Given the description of an element on the screen output the (x, y) to click on. 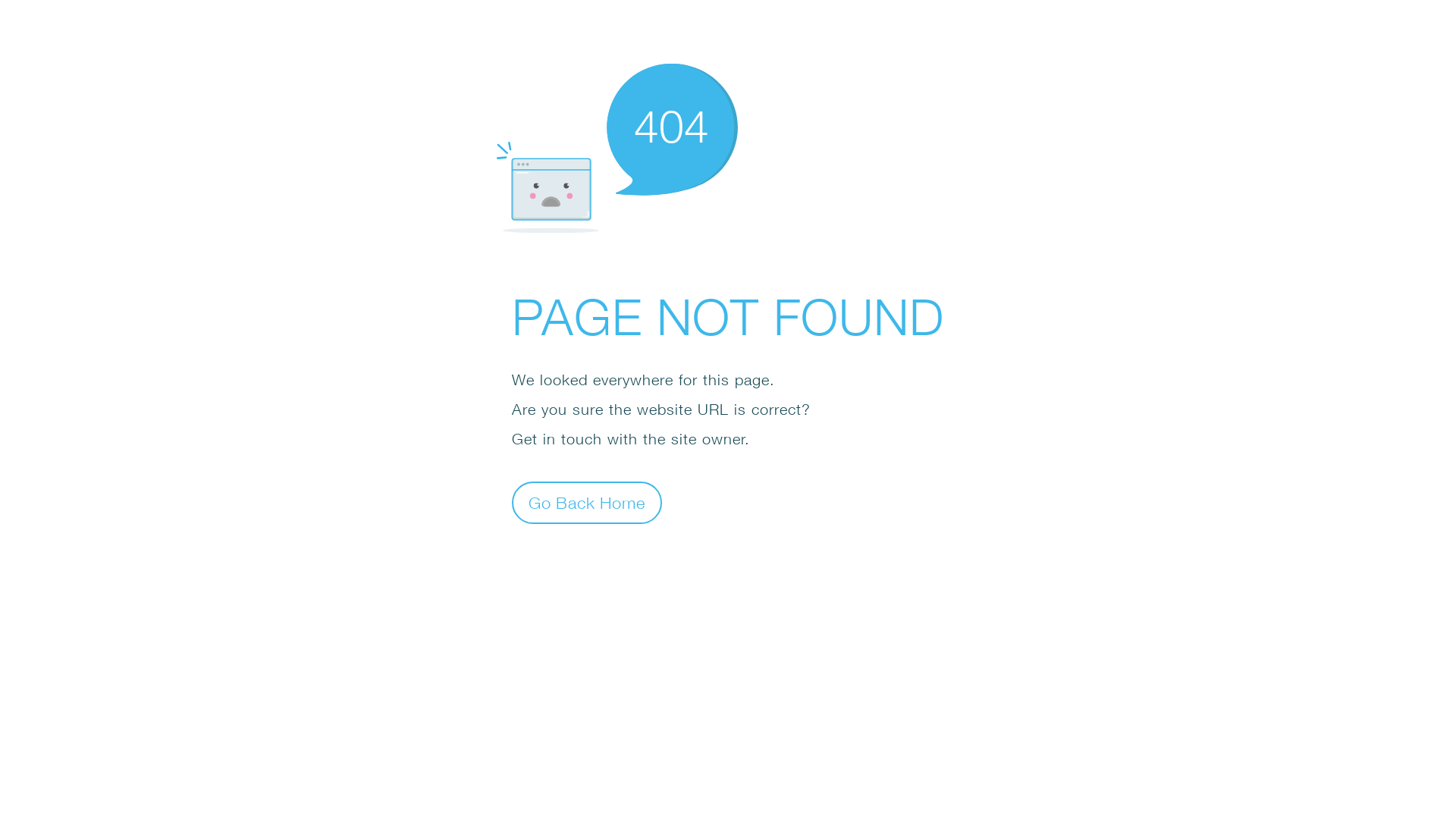
Go Back Home Element type: text (586, 502)
